Given the description of an element on the screen output the (x, y) to click on. 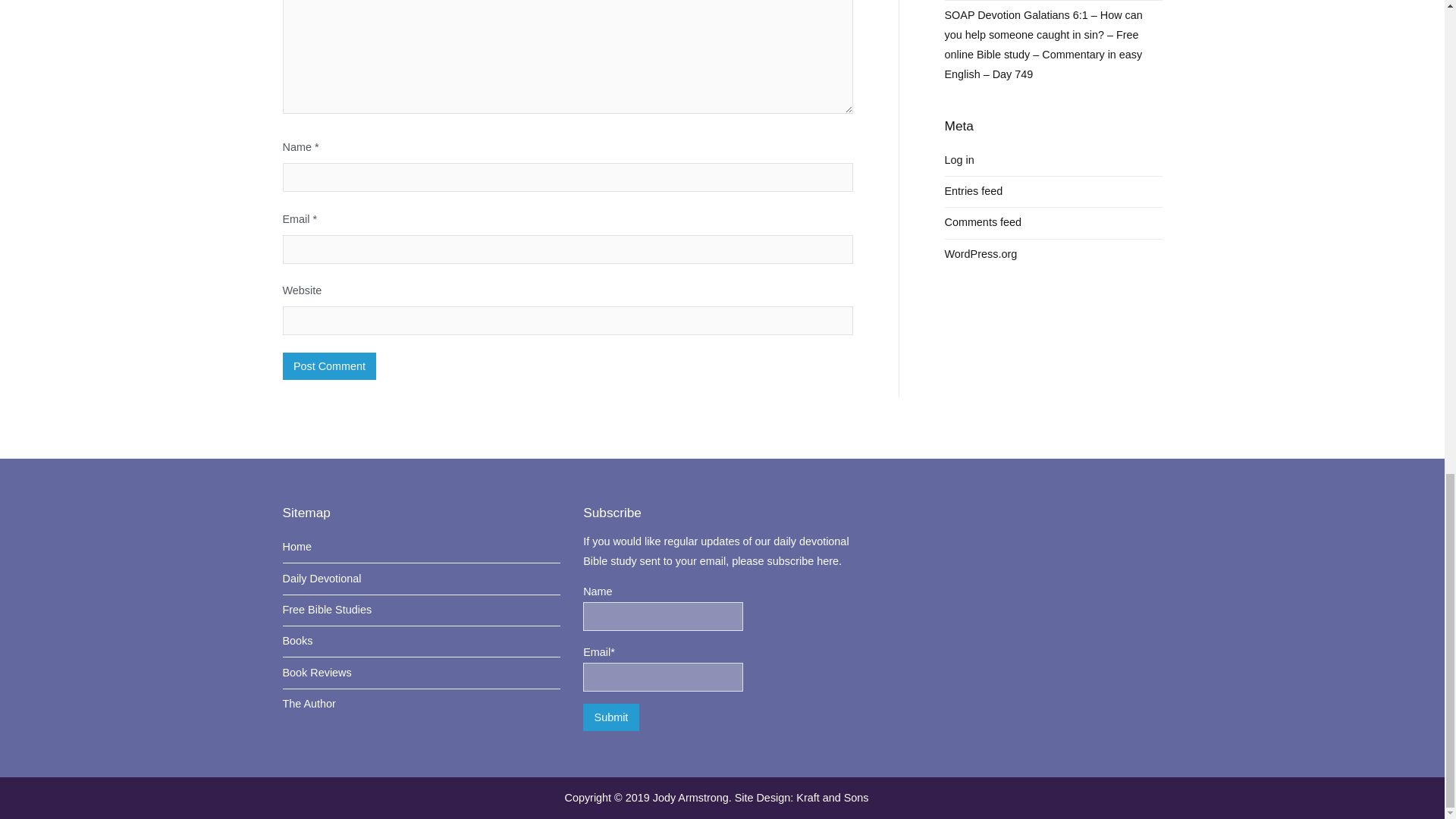
Submit (611, 717)
WordPress.org (980, 254)
Comments feed (983, 223)
Book Reviews (421, 672)
Log in (959, 160)
Free Bible Studies (421, 610)
Books (421, 641)
Daily Devotional (421, 578)
Jody Armstrong (690, 797)
Post Comment (328, 366)
